Given the description of an element on the screen output the (x, y) to click on. 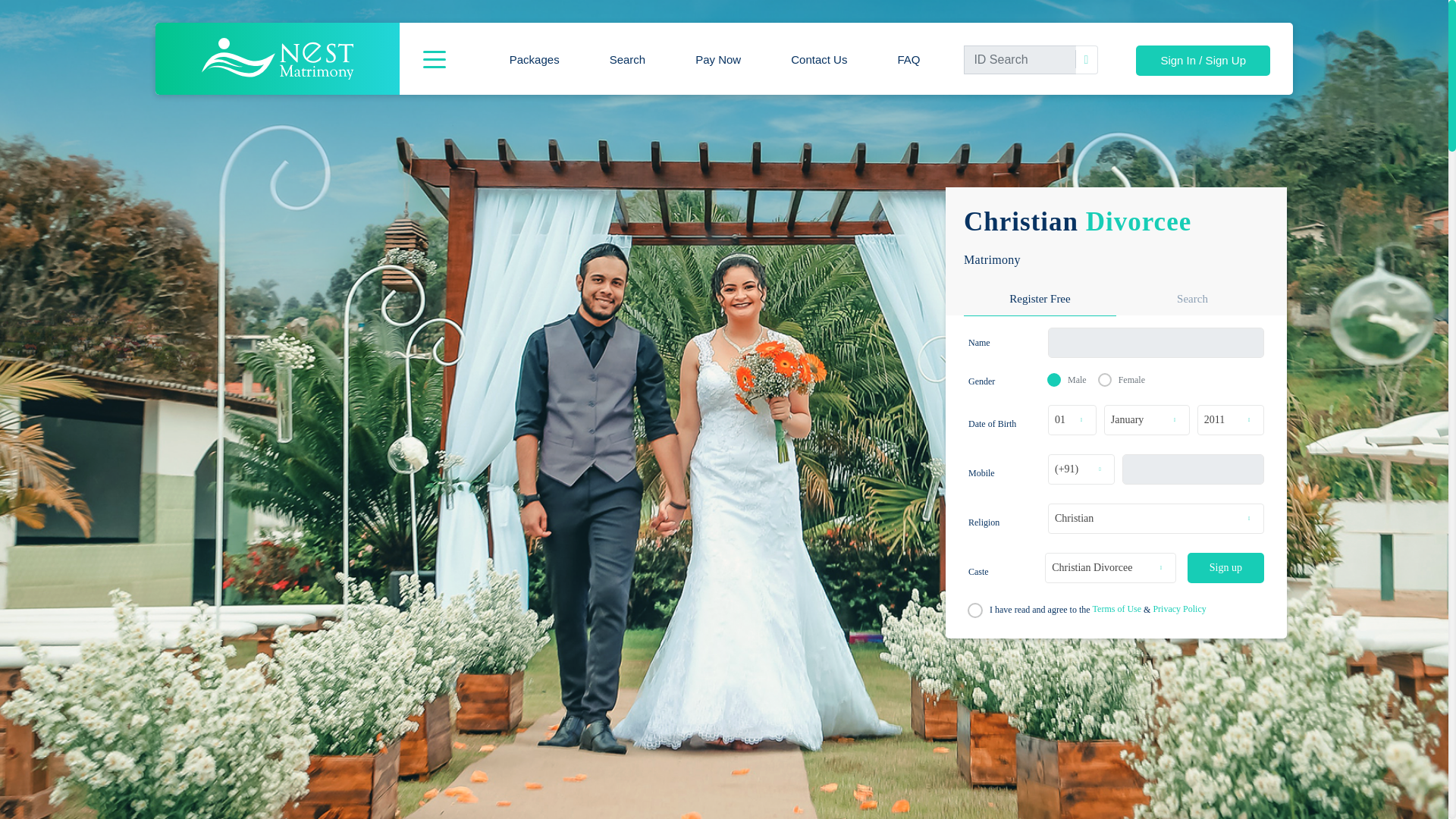
01 (1072, 419)
Christian Divorcee (1109, 567)
January (1147, 419)
Female (1103, 379)
Male (1053, 379)
Christian (1155, 518)
2011 (1230, 419)
